Given the description of an element on the screen output the (x, y) to click on. 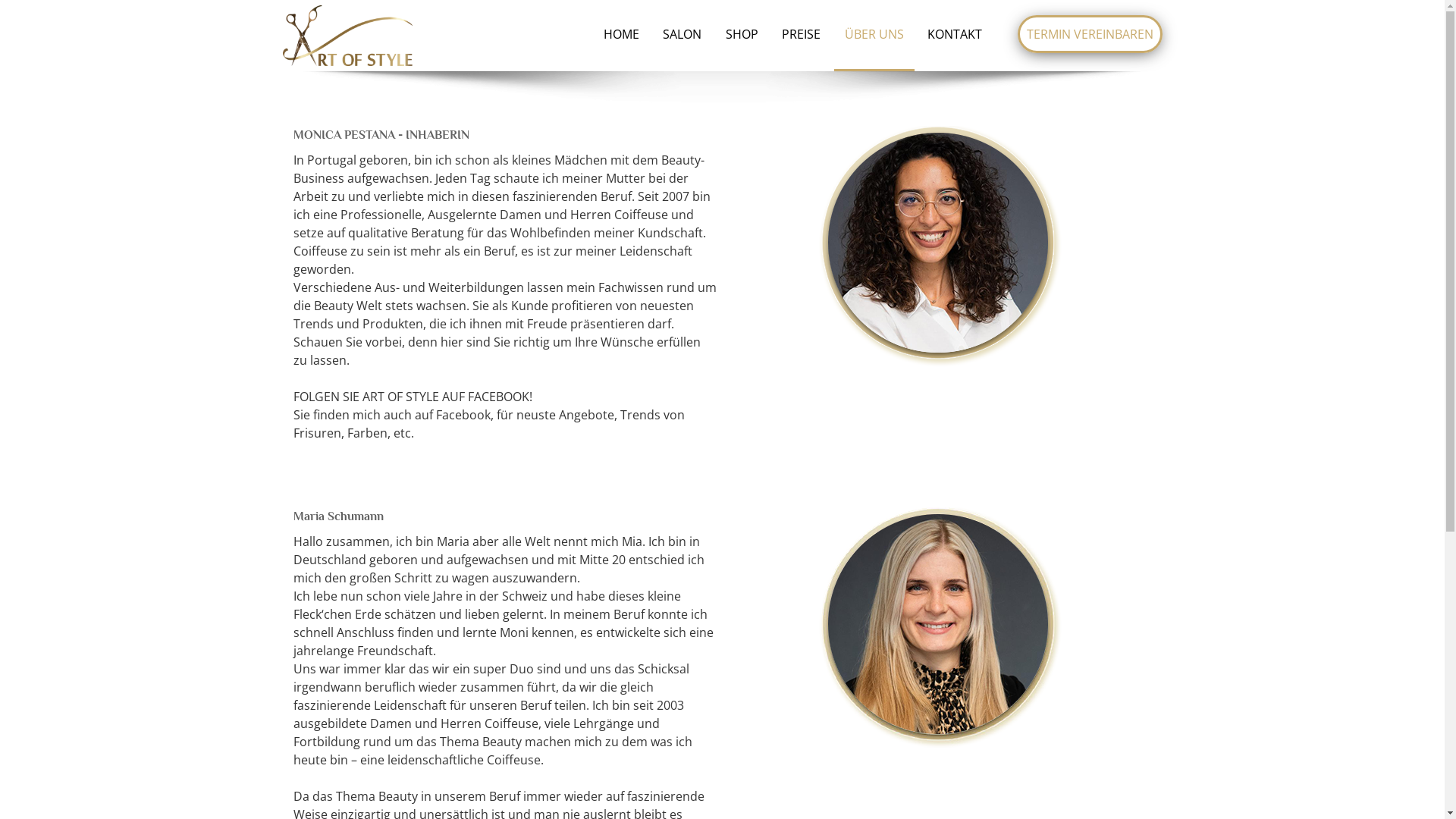
Zum Inhalt springen Element type: text (204, 0)
KONTAKT Element type: text (954, 38)
author Element type: hover (939, 246)
PREISE Element type: text (801, 38)
HOME Element type: text (621, 38)
SHOP Element type: text (741, 38)
TERMIN VEREINBAREN Element type: text (1089, 34)
SALON Element type: text (682, 38)
Moni_2 Element type: hover (939, 627)
